Given the description of an element on the screen output the (x, y) to click on. 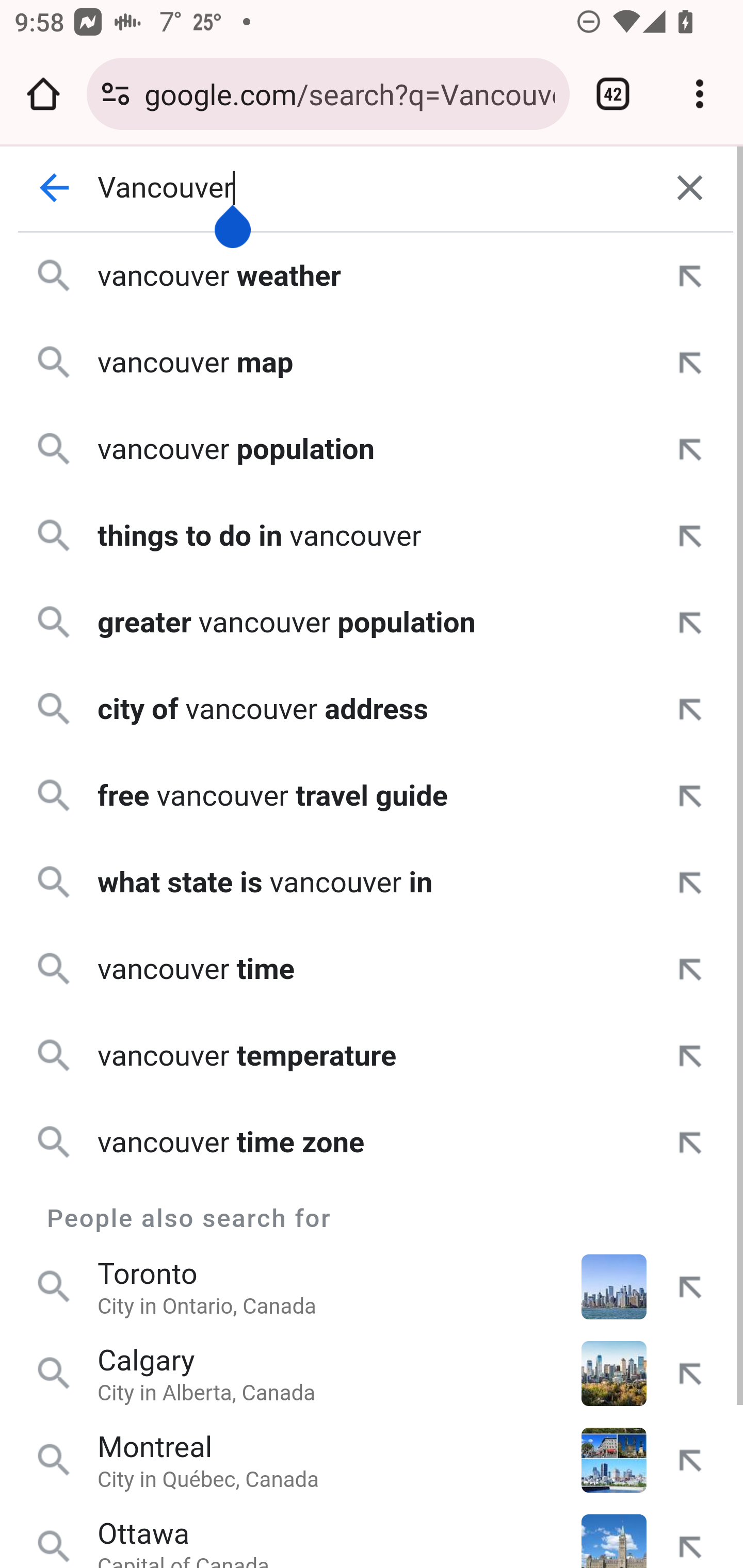
Open the home page (43, 93)
Connection is secure (115, 93)
Switch or close tabs (612, 93)
Customize and control Google Chrome (699, 93)
Back (54, 188)
Clear Search (690, 188)
Vancouver (372, 188)
